Given the description of an element on the screen output the (x, y) to click on. 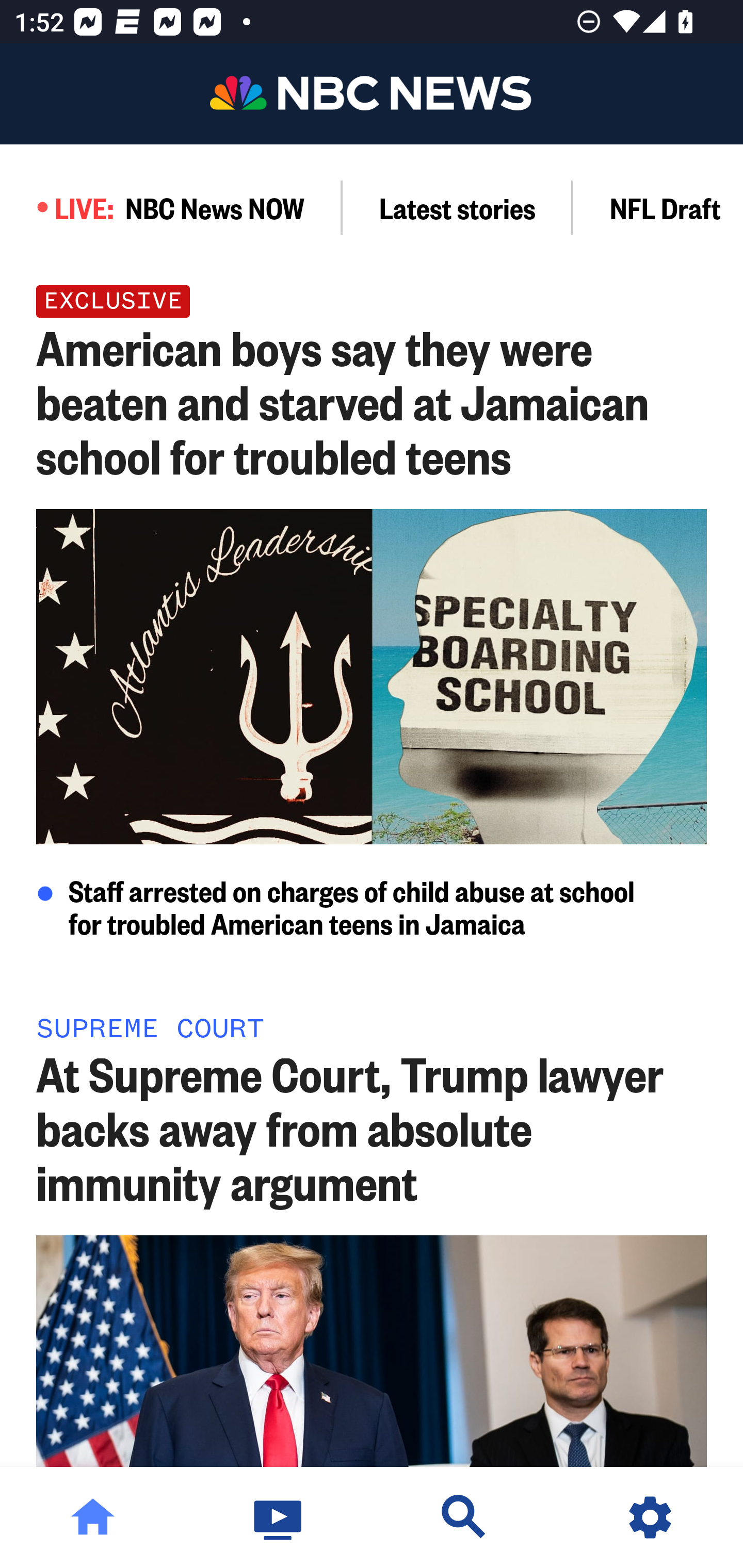
LIVE:  NBC News NOW (171, 207)
Latest stories Section,Latest stories (457, 207)
NFL Draft (658, 207)
Watch (278, 1517)
Discover (464, 1517)
Settings (650, 1517)
